Given the description of an element on the screen output the (x, y) to click on. 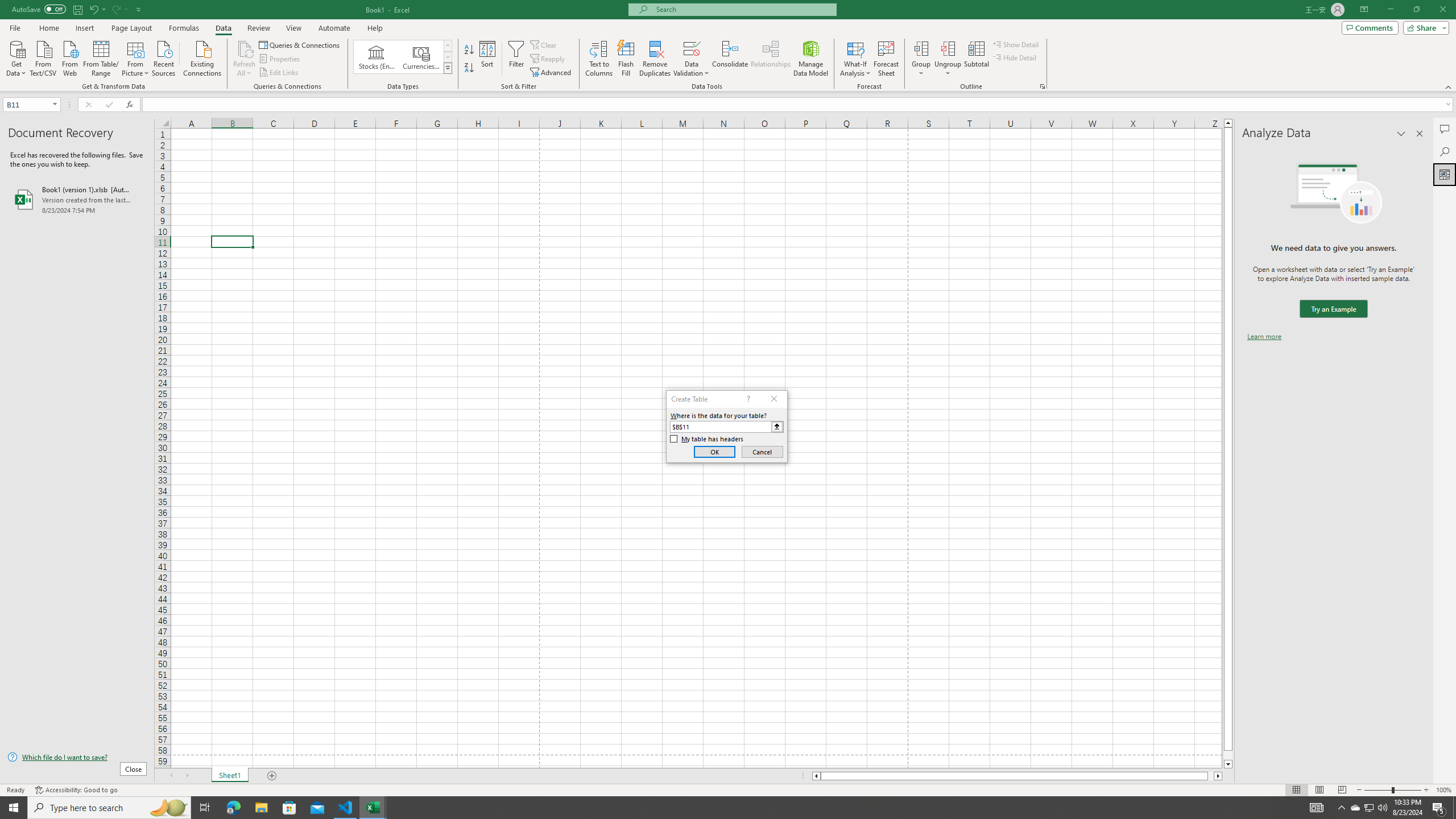
Properties (280, 58)
Class: NetUIImage (447, 68)
Consolidate... (729, 58)
Stocks (English) (375, 56)
Task Pane Options (1400, 133)
Forecast Sheet (885, 58)
Remove Duplicates (654, 58)
Relationships (770, 58)
Filter (515, 58)
Existing Connections (202, 57)
